Given the description of an element on the screen output the (x, y) to click on. 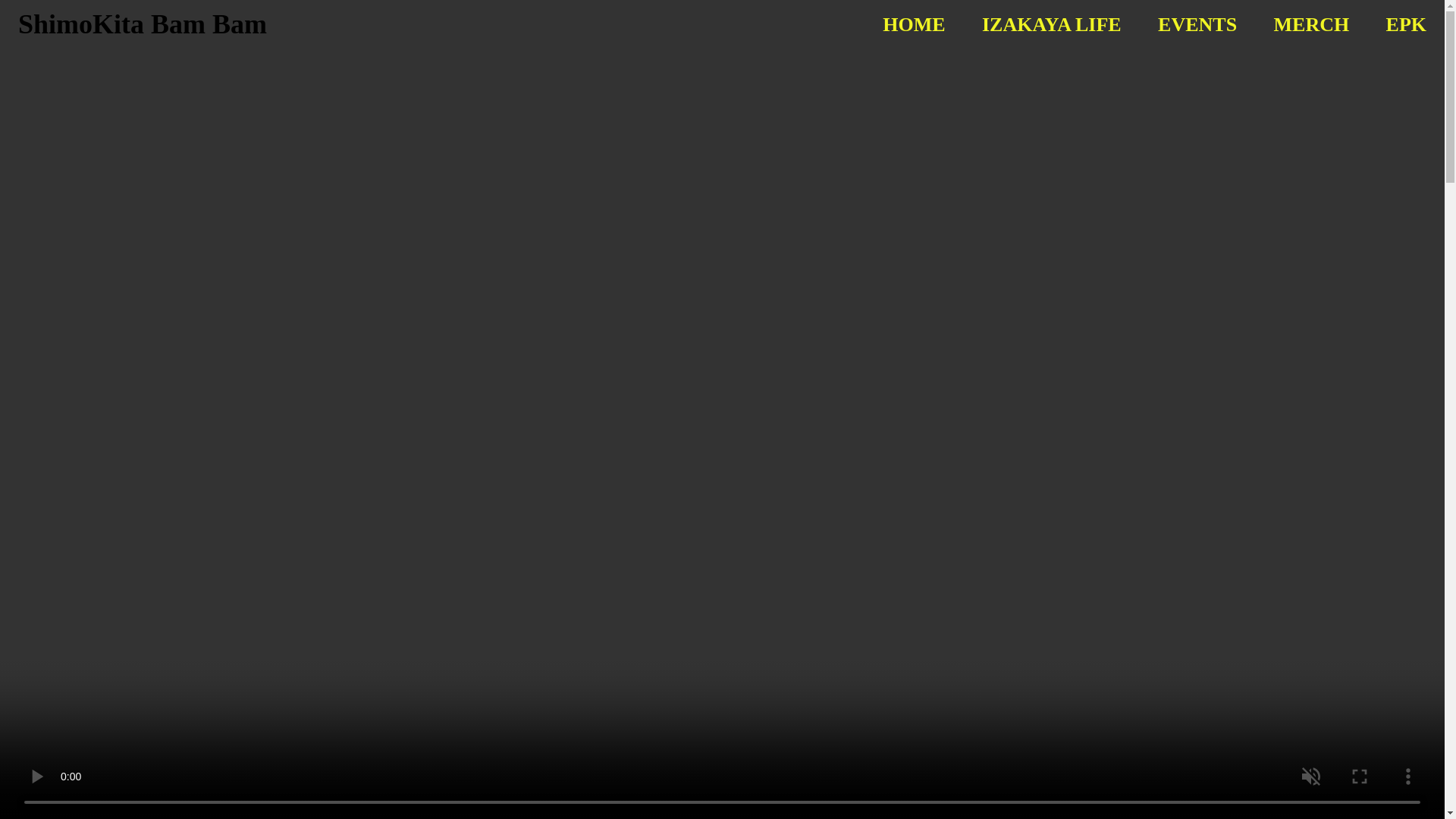
IZAKAYA LIFE (1051, 24)
EPK (1406, 24)
EVENTS (1196, 24)
HOME (913, 24)
ShimoKita Bam Bam (141, 24)
MERCH (1311, 24)
